Given the description of an element on the screen output the (x, y) to click on. 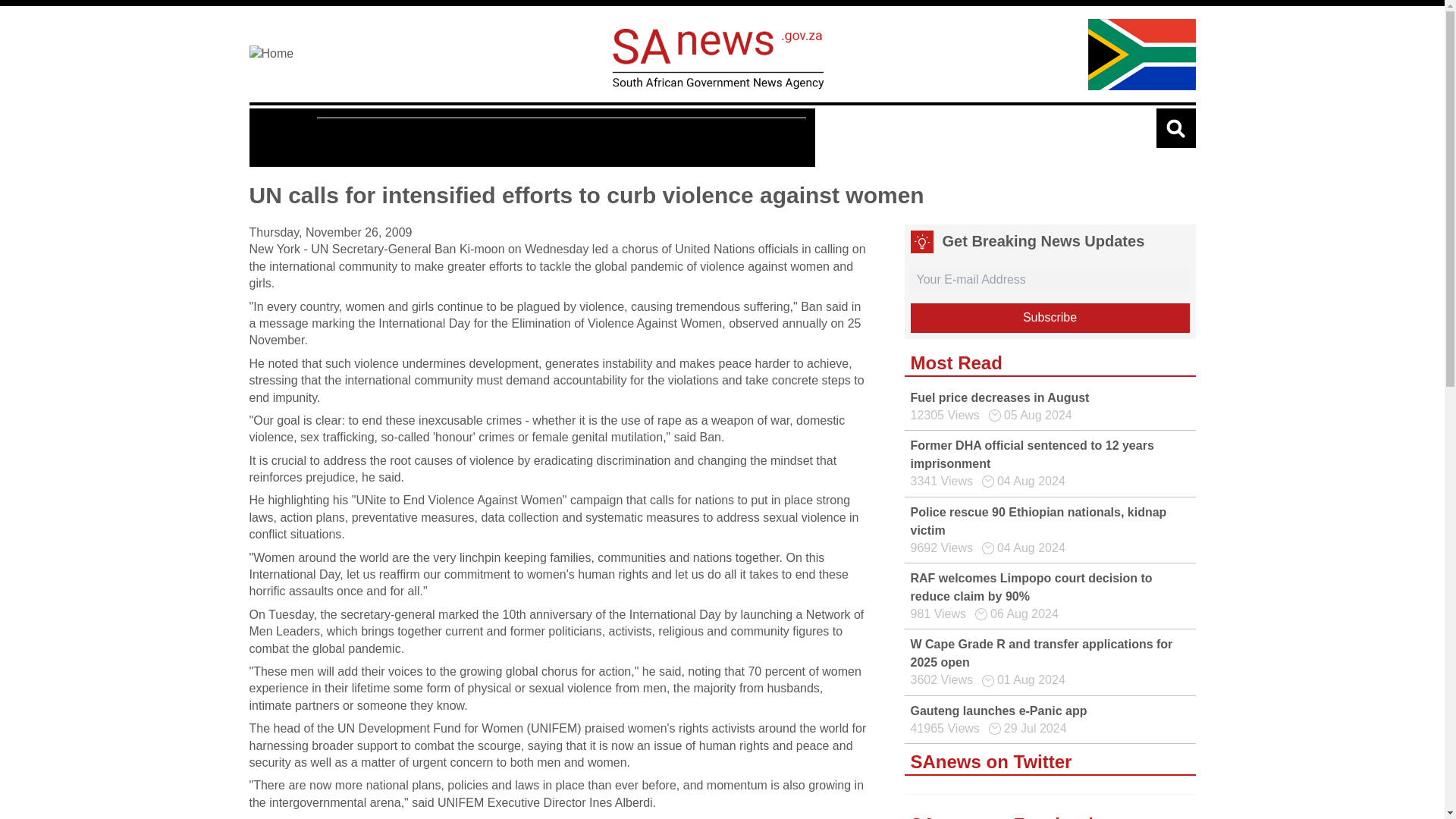
Subscribe (1049, 317)
Home (293, 53)
Features (355, 137)
Special Features (742, 137)
News (286, 137)
Gauteng launches e-Panic app (998, 710)
W Cape Grade R and transfer applications for 2025 open (1041, 653)
Fuel price decreases in August (999, 397)
Multimedia (439, 137)
Subscribe (1049, 317)
Opinion Pieces (621, 137)
Galleries (523, 137)
Police rescue 90 Ethiopian nationals, kidnap victim (1038, 521)
Former DHA official sentenced to 12 years imprisonment (1031, 454)
